Given the description of an element on the screen output the (x, y) to click on. 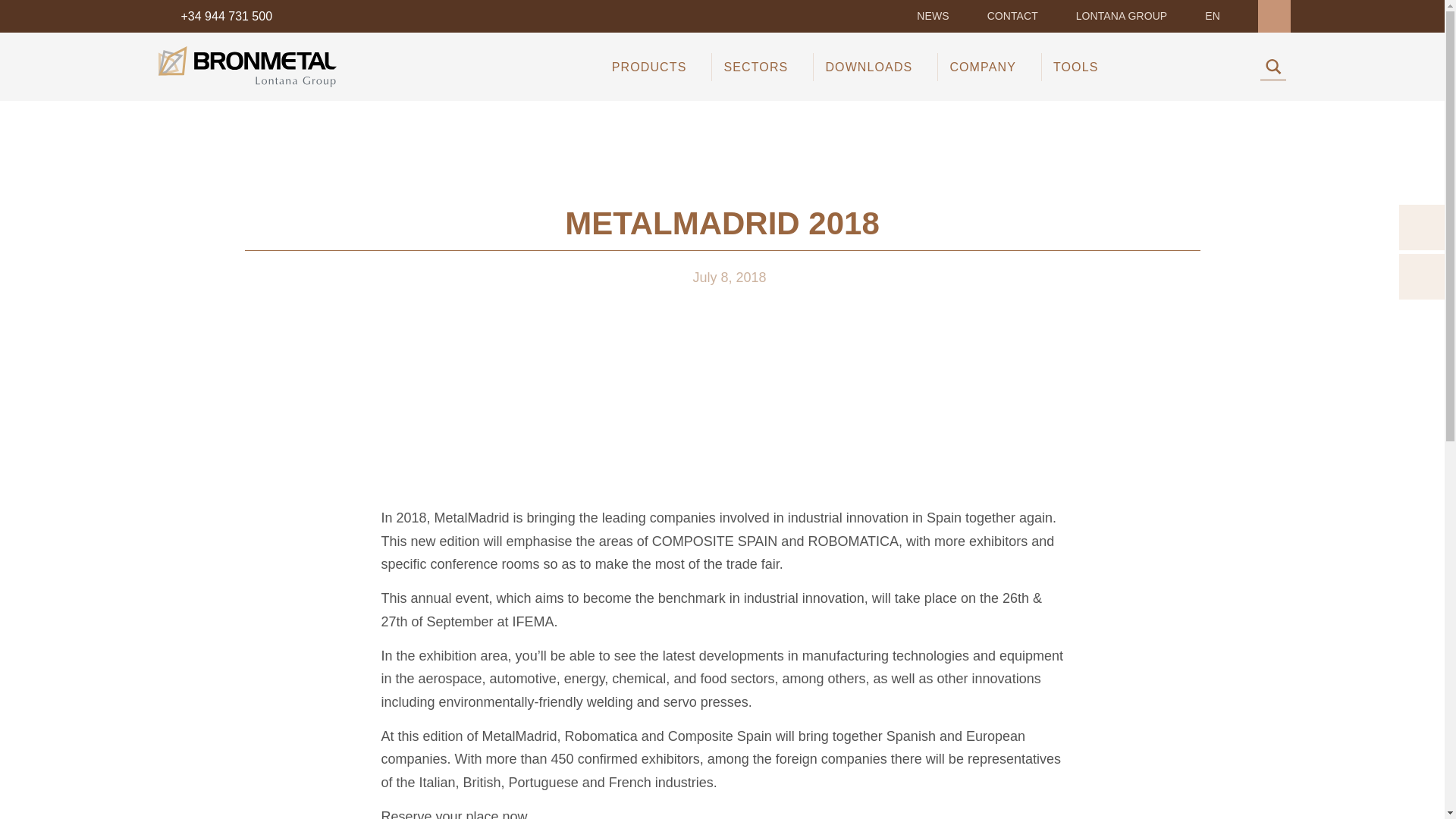
NEWS (933, 16)
CONTACT (1012, 16)
PRODUCTS (649, 66)
LONTANA GROUP (1121, 16)
